Given the description of an element on the screen output the (x, y) to click on. 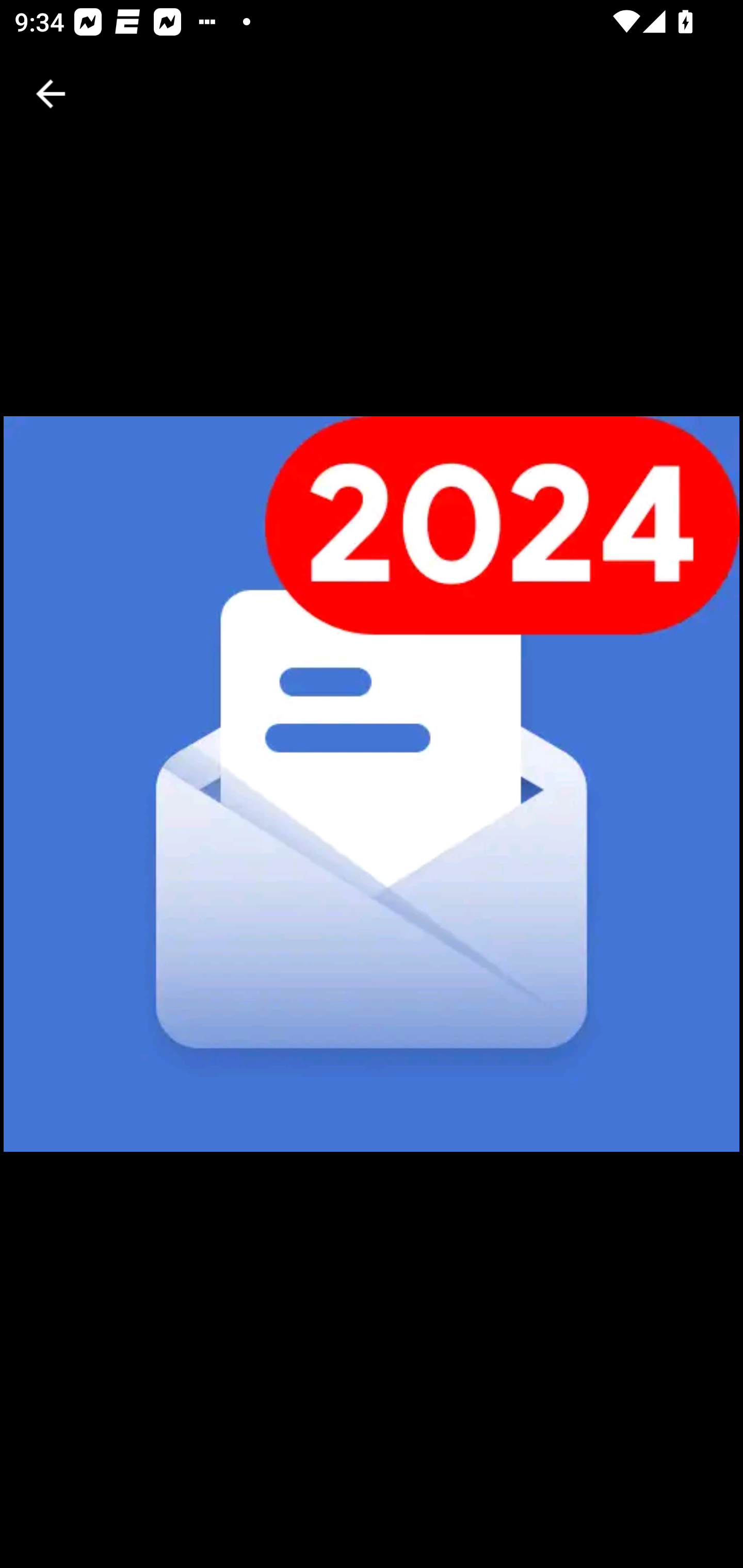
Back (50, 93)
